Given the description of an element on the screen output the (x, y) to click on. 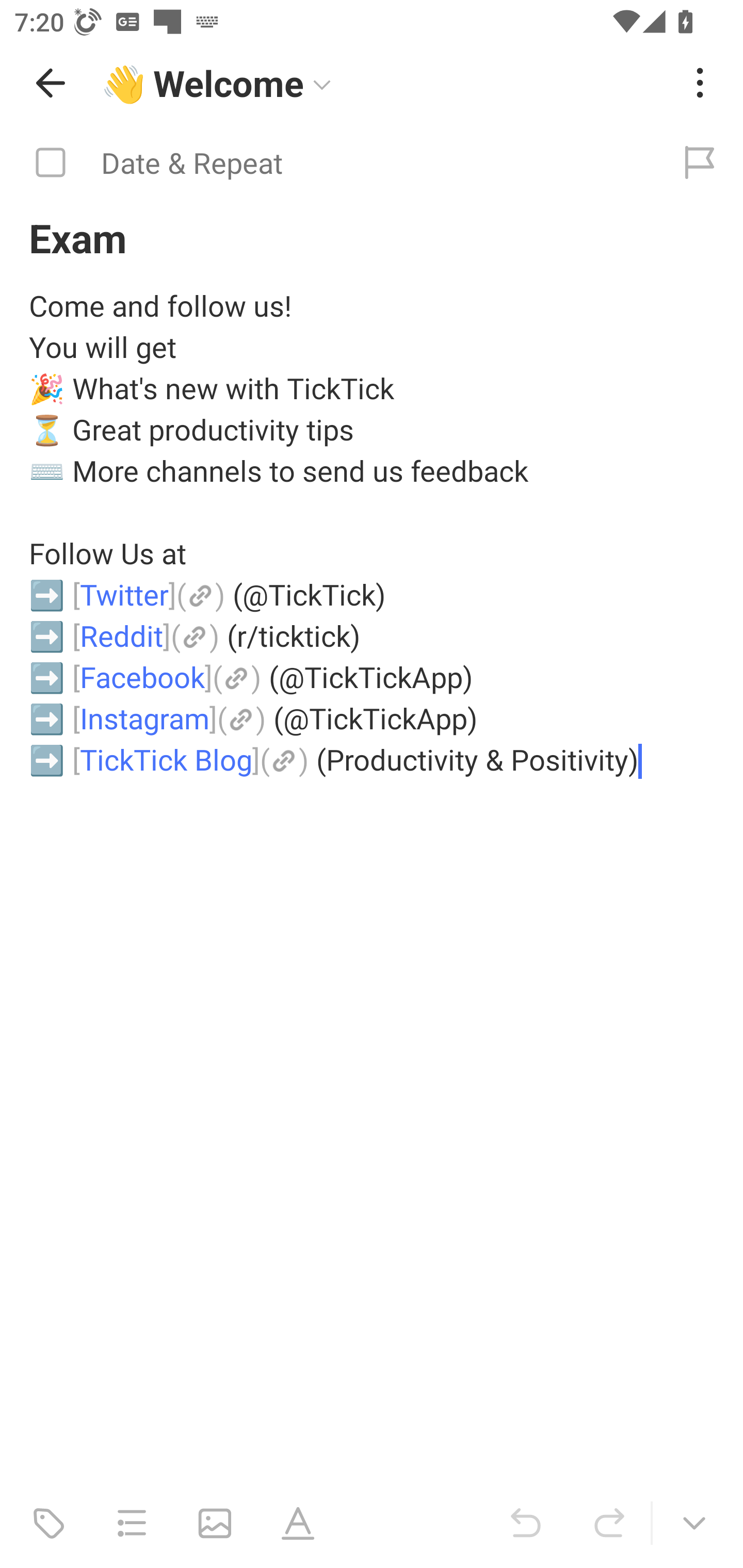
👋 Welcome (384, 82)
Date & Repeat (328, 163)
Exam (371, 237)
